Given the description of an element on the screen output the (x, y) to click on. 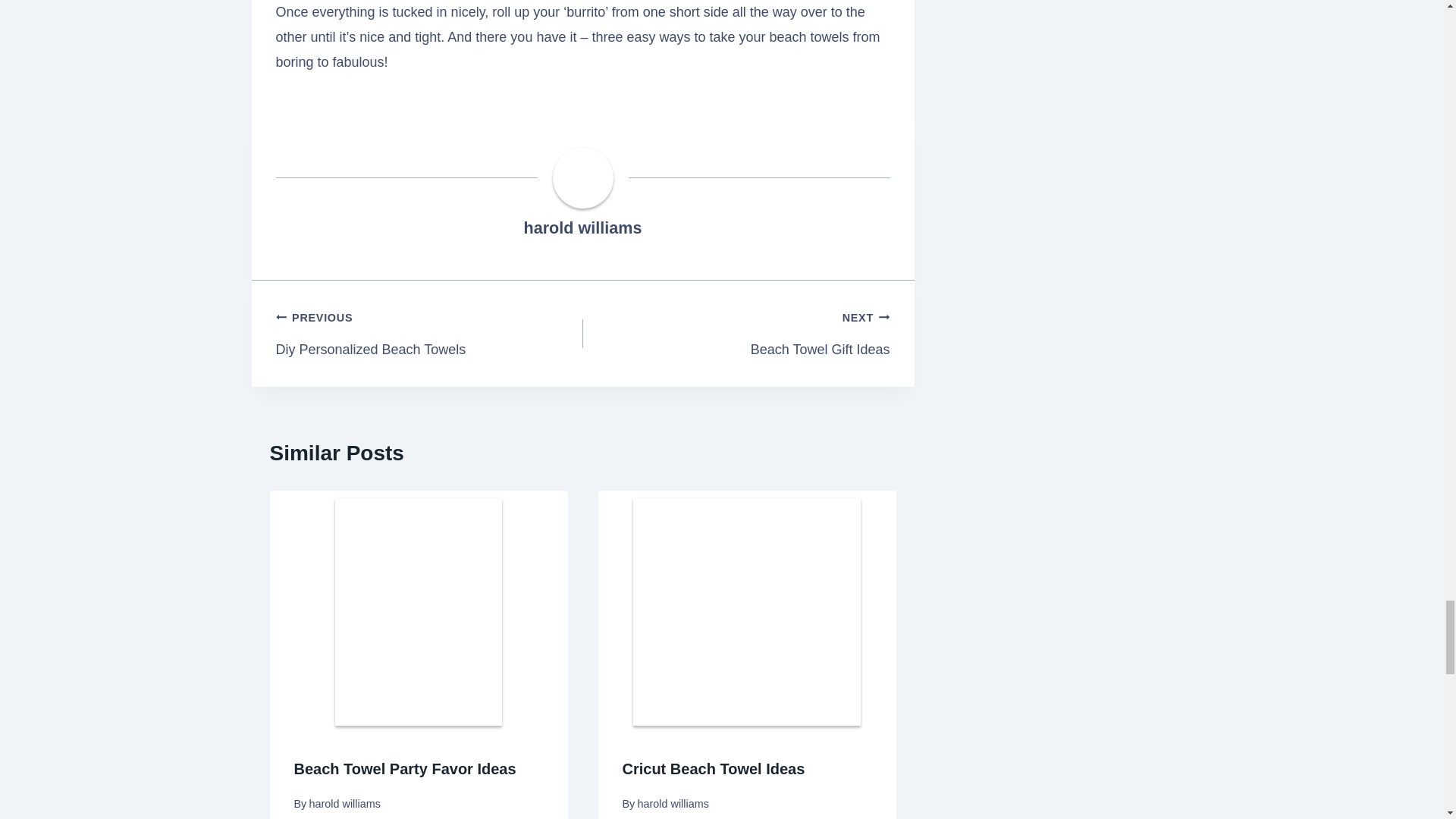
harold williams (582, 227)
Beach Towel Party Favor Ideas (735, 333)
Posts by harold williams (405, 768)
Cricut Beach Towel Ideas (582, 227)
